Given the description of an element on the screen output the (x, y) to click on. 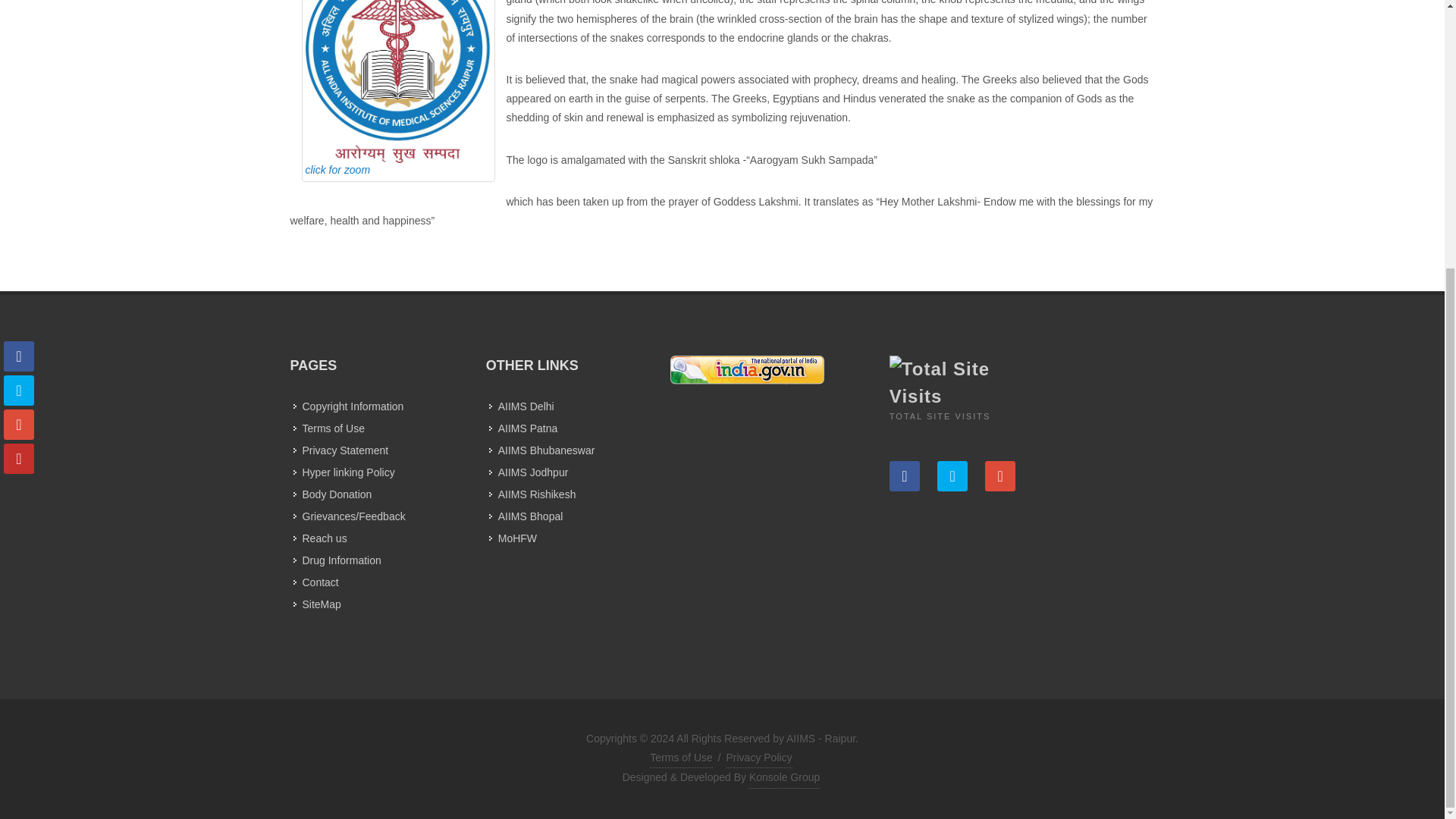
Twitter (952, 476)
Total Site Visits (949, 382)
Google Plus (999, 476)
